Given the description of an element on the screen output the (x, y) to click on. 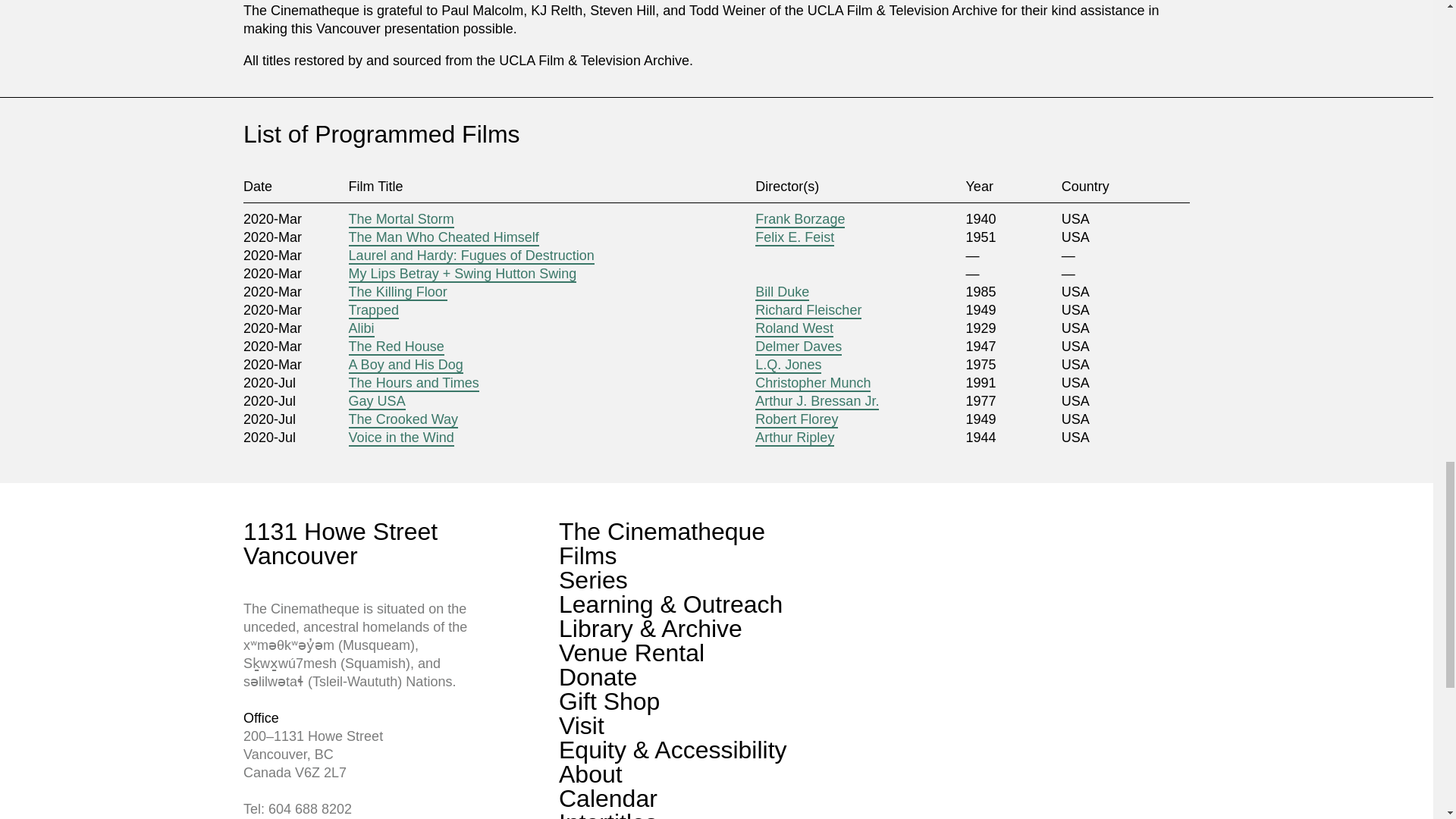
The Man Who Cheated Himself (443, 238)
A Boy and His Dog (406, 365)
Arthur J. Bressan Jr. (817, 401)
Delmer Daves (798, 347)
The Killing Floor (397, 292)
Christopher Munch (812, 383)
Gay USA (377, 401)
Bill Duke (782, 292)
Felix E. Feist (794, 238)
Frank Borzage (799, 219)
